Given the description of an element on the screen output the (x, y) to click on. 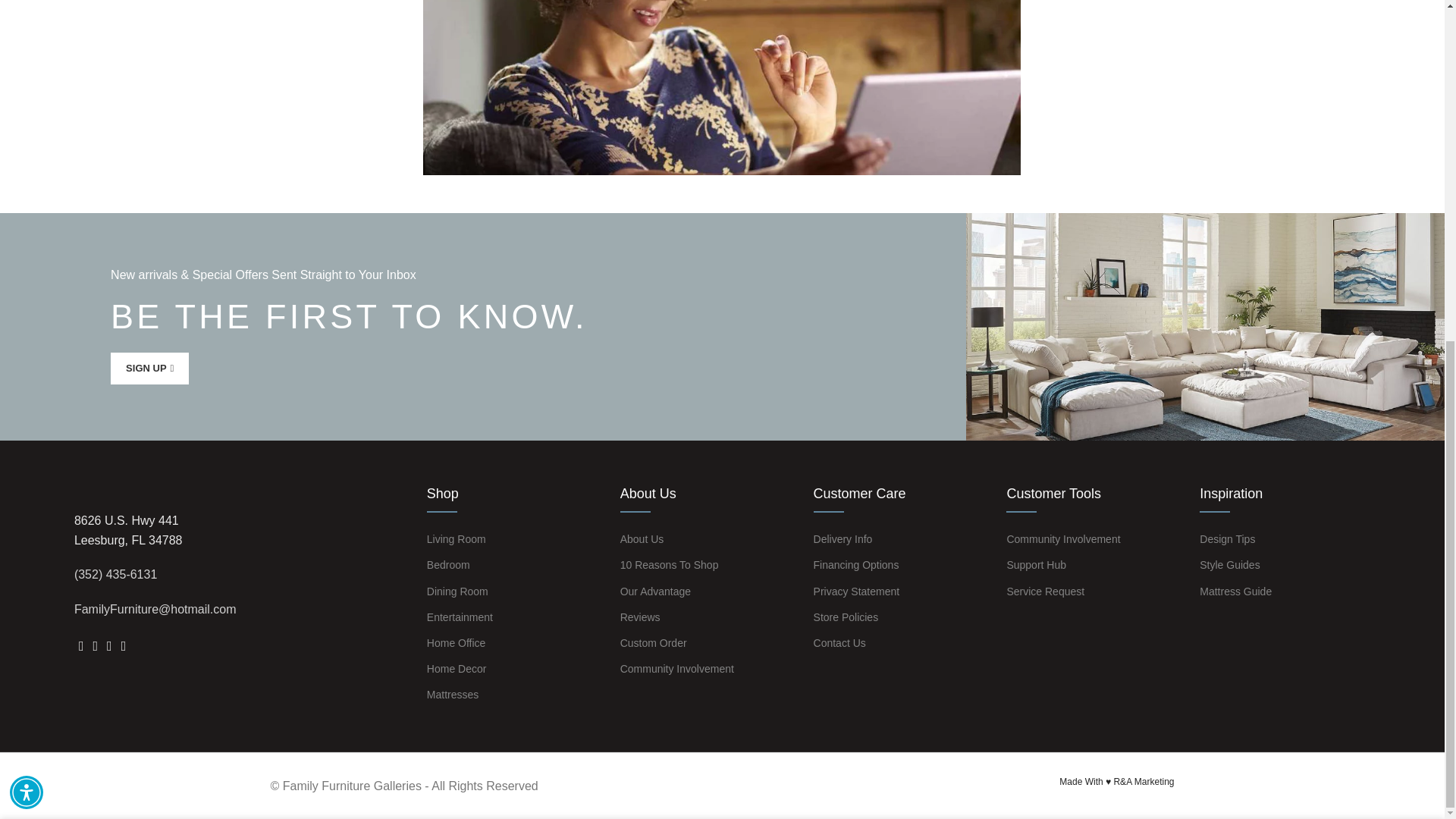
Accessibility Menu (26, 212)
